Given the description of an element on the screen output the (x, y) to click on. 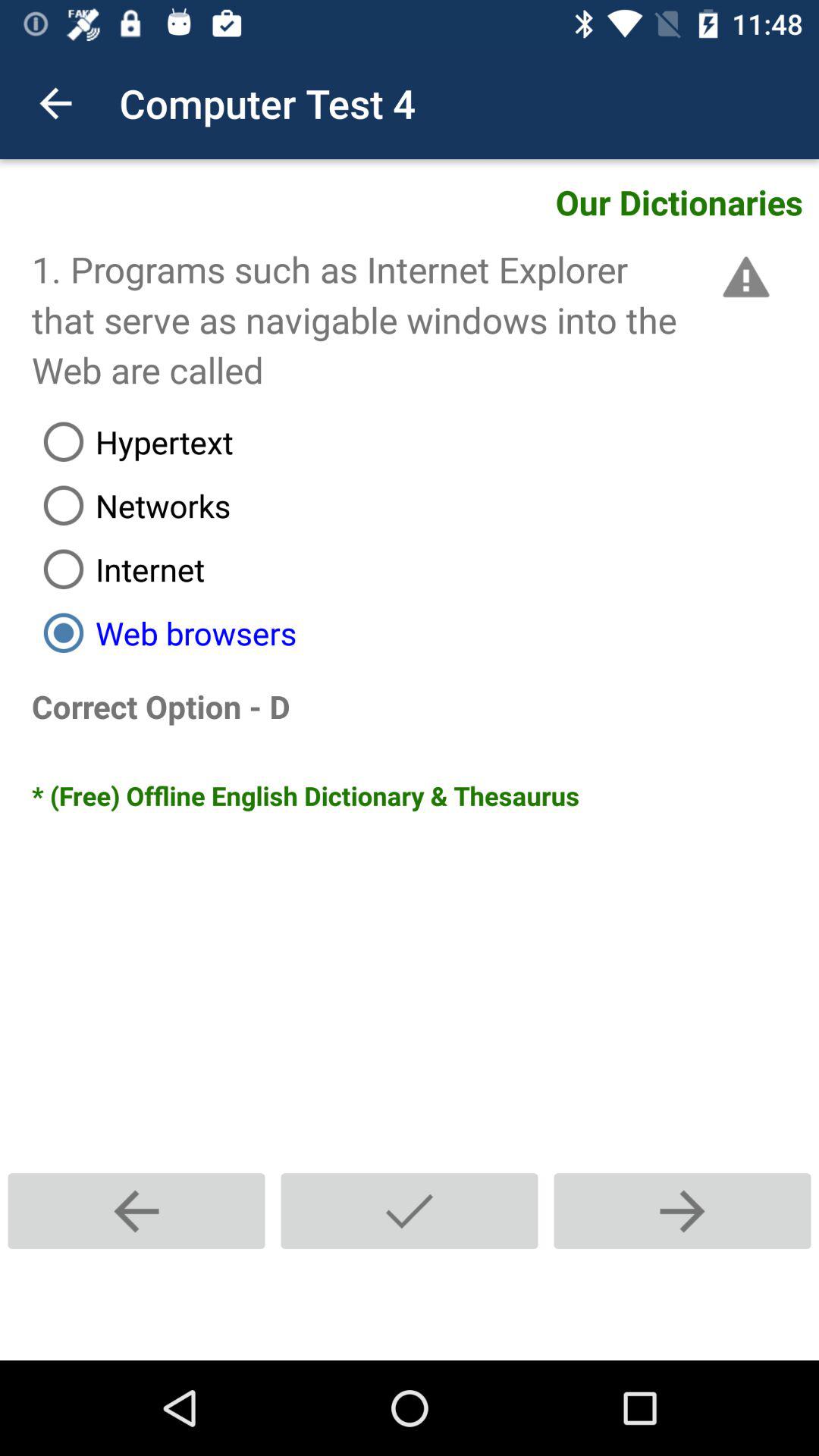
open web browsers (425, 632)
